Given the description of an element on the screen output the (x, y) to click on. 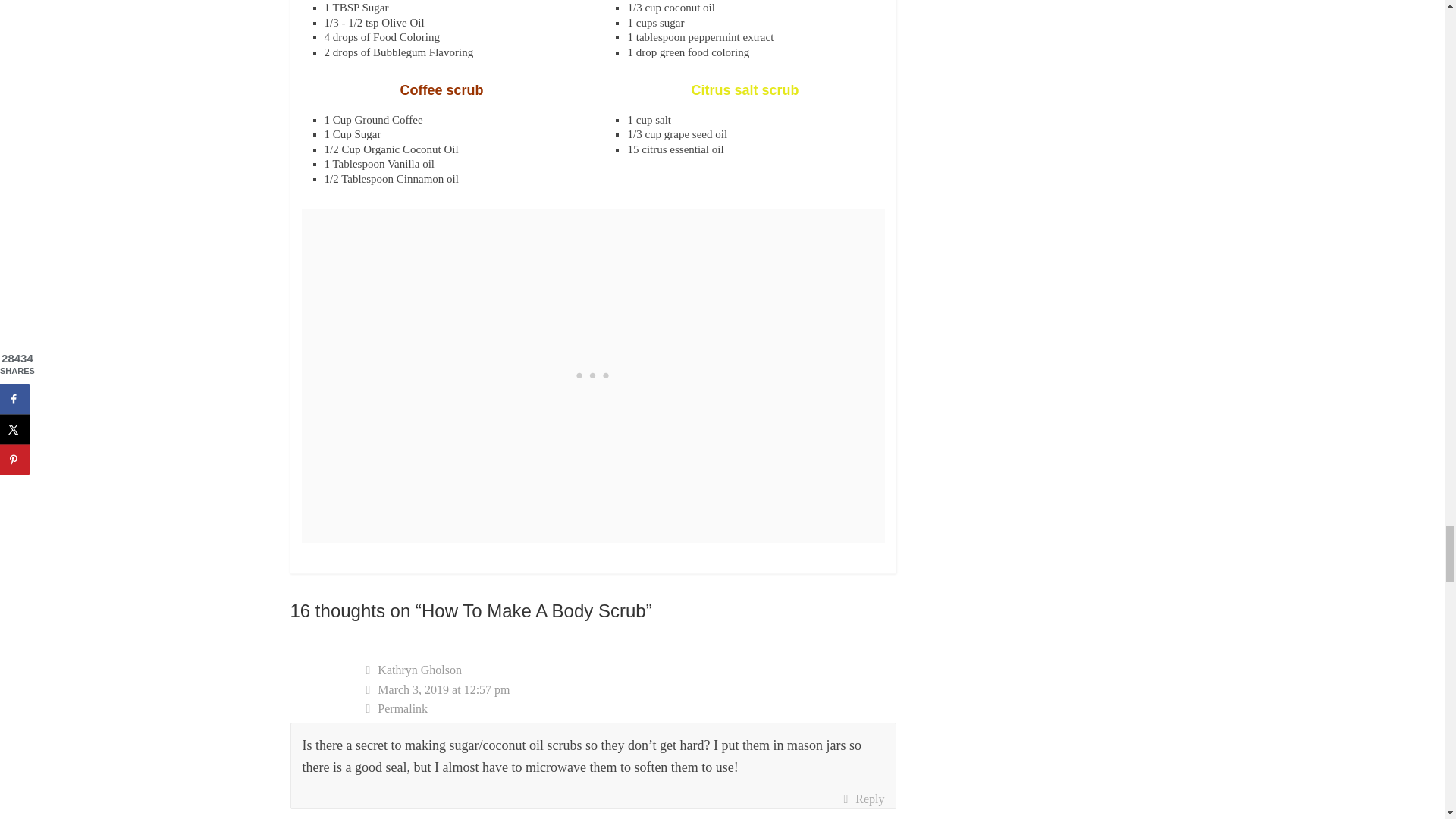
Permalink (630, 709)
Reply (863, 799)
